Given the description of an element on the screen output the (x, y) to click on. 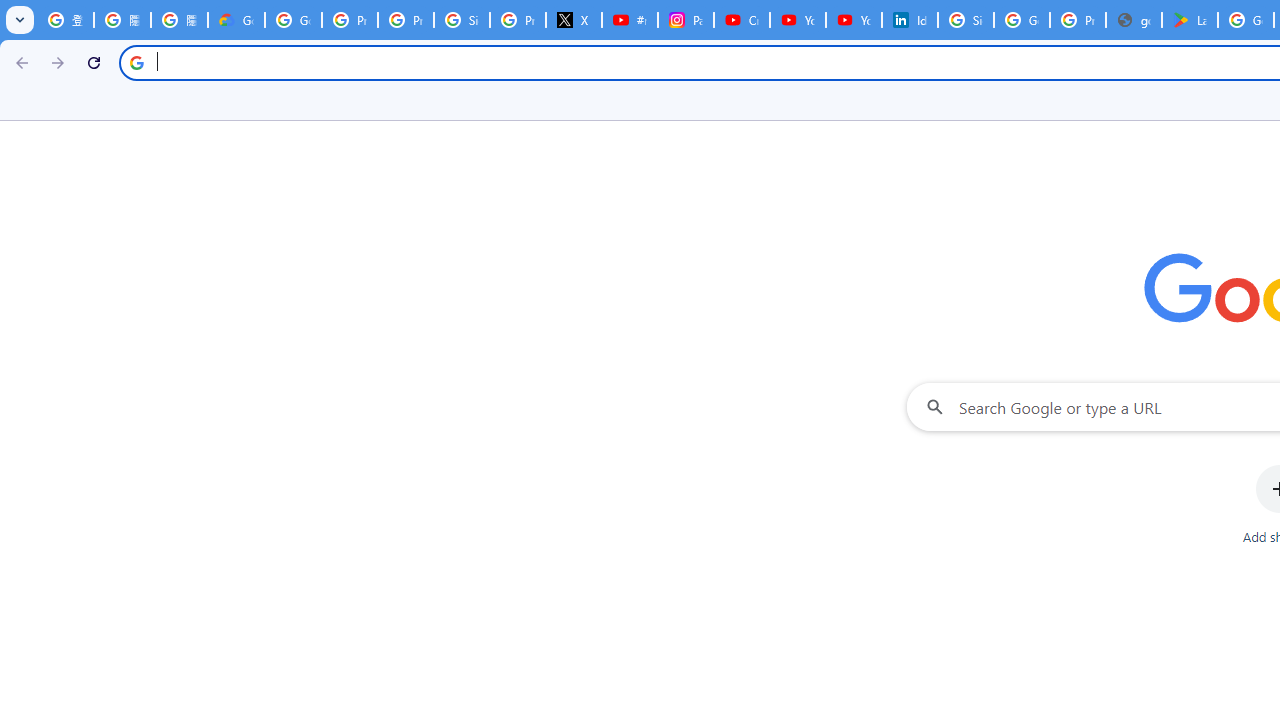
YouTube Culture & Trends - YouTube Top 10, 2021 (853, 20)
Google Cloud Privacy Notice (235, 20)
X (573, 20)
